Given the description of an element on the screen output the (x, y) to click on. 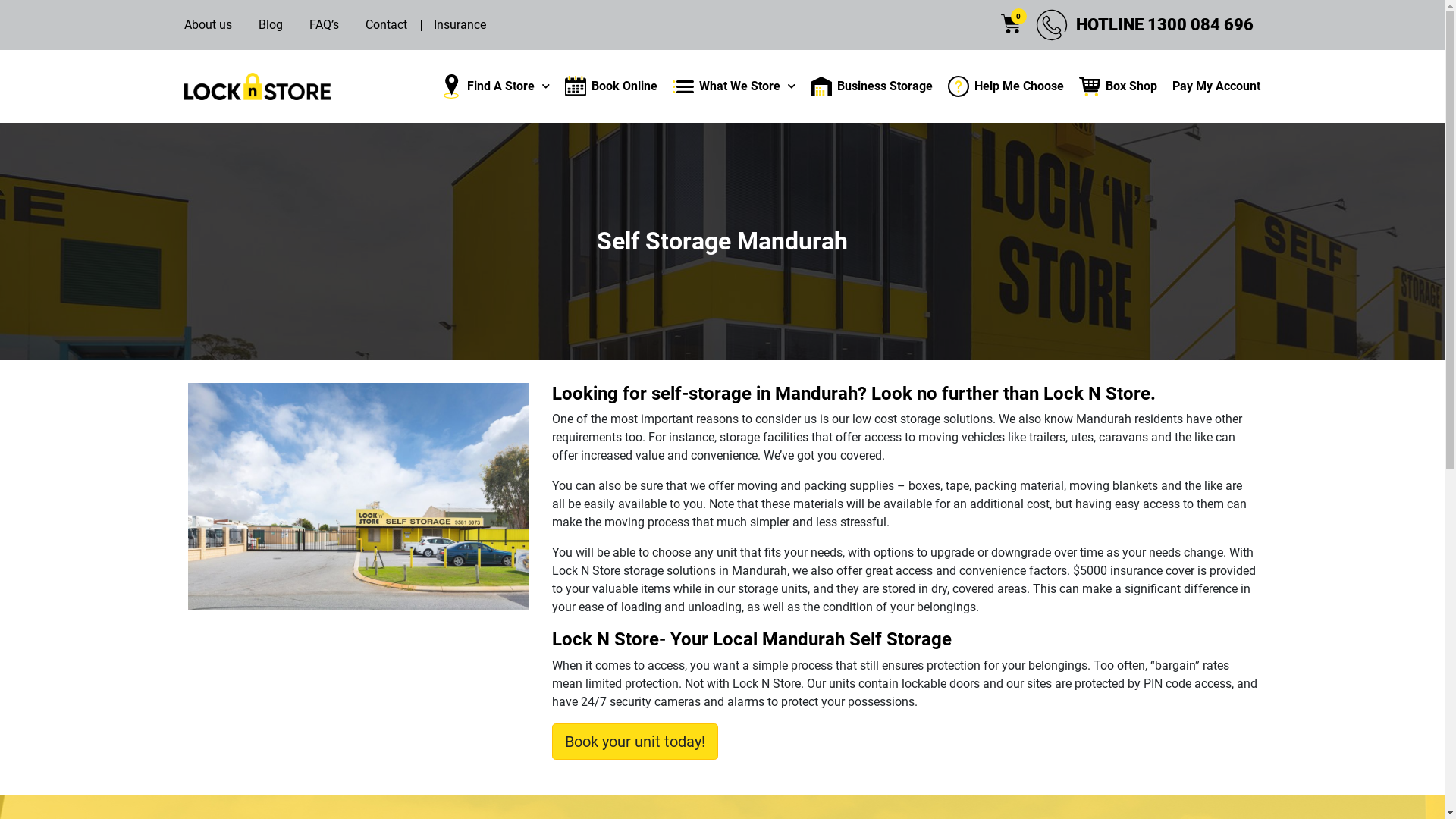
Contact Element type: text (386, 24)
Help Me Choose Element type: text (1005, 86)
HOTLINE 1300 084 696 Element type: text (1164, 24)
0 Element type: text (1011, 23)
Book your unit today! Element type: text (635, 741)
Book Online Element type: text (610, 86)
Box Shop Element type: text (1118, 86)
Insurance Element type: text (459, 24)
About us Element type: text (207, 24)
Business Storage Element type: text (871, 86)
What We Store Element type: text (733, 86)
Blog Element type: text (269, 24)
Find A Store Element type: text (494, 86)
Pay My Account Element type: text (1216, 86)
